Given the description of an element on the screen output the (x, y) to click on. 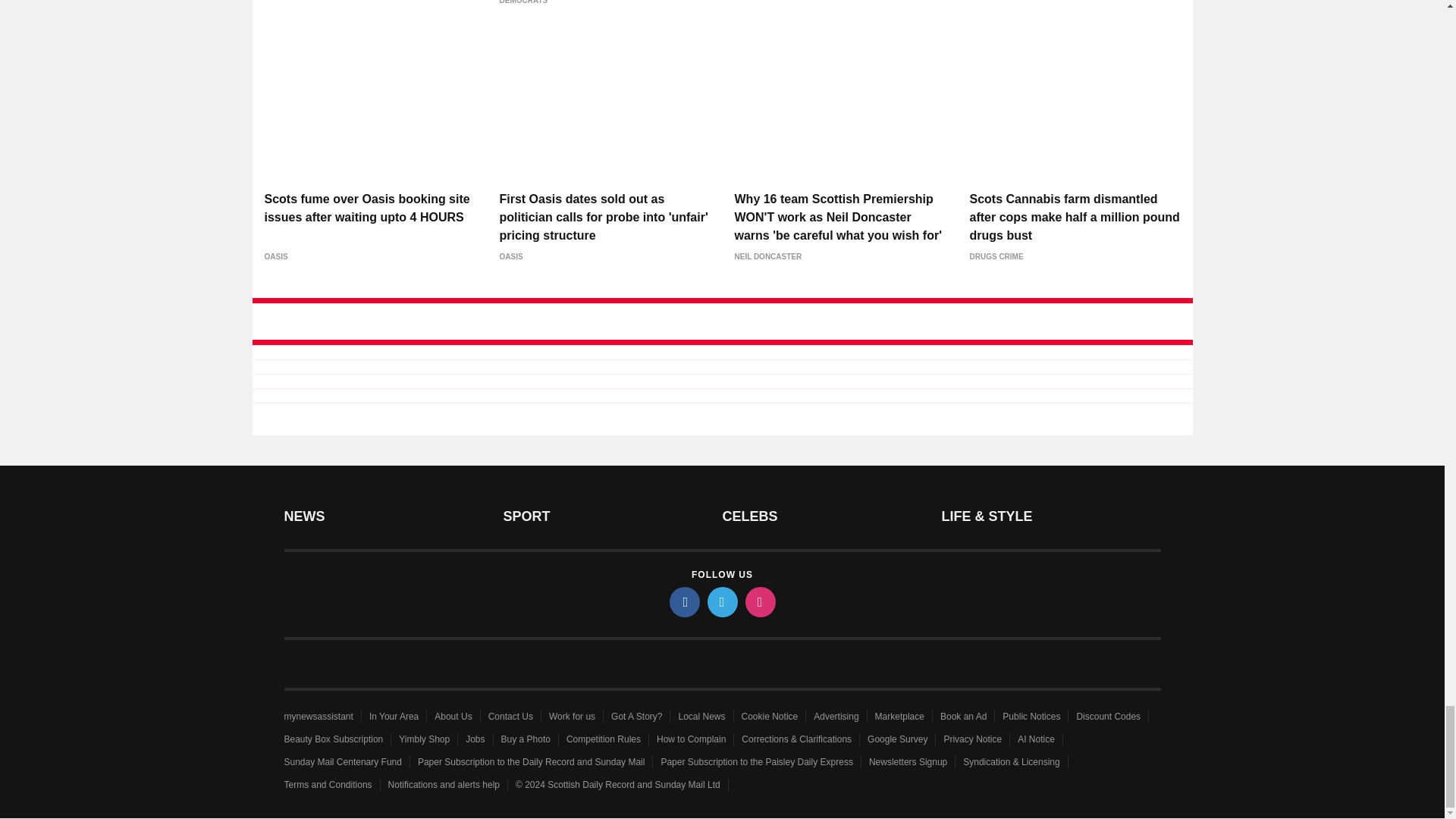
instagram (759, 602)
facebook (683, 602)
twitter (721, 602)
